Given the description of an element on the screen output the (x, y) to click on. 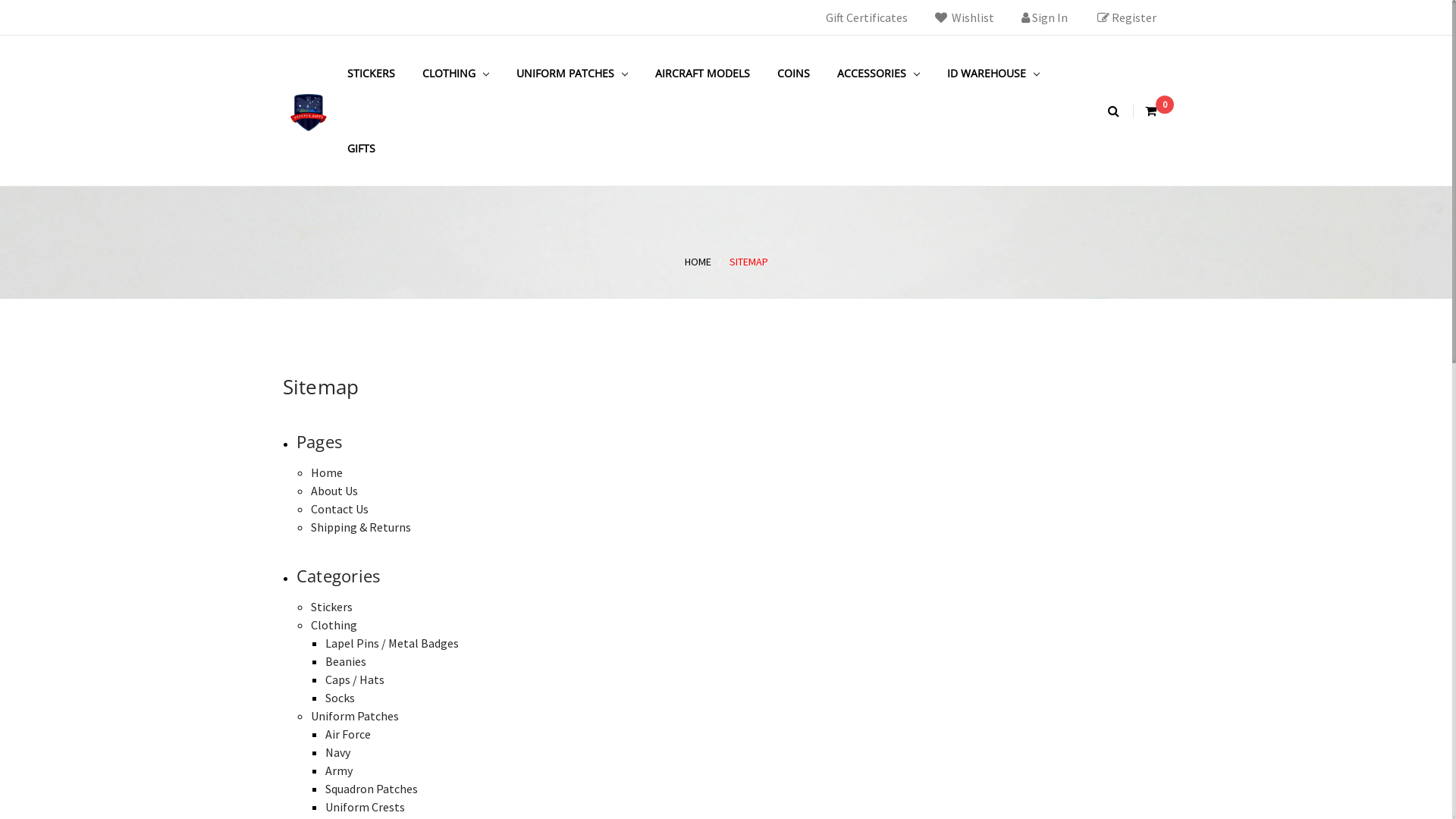
Uniform Crests Element type: text (364, 806)
Register Element type: text (1125, 17)
ID WAREHOUSE Element type: text (992, 72)
Shipping & Returns Element type: text (360, 526)
CLOTHING Element type: text (454, 72)
Stickers Element type: text (331, 606)
HOME Element type: text (697, 261)
Caps / Hats Element type: text (354, 679)
Squadron Patches Element type: text (371, 788)
GIFTS Element type: text (361, 147)
ACCESSORIES Element type: text (878, 72)
Navy Element type: text (337, 751)
STICKERS Element type: text (370, 72)
Beanies Element type: text (345, 660)
Lapel Pins / Metal Badges Element type: text (391, 642)
Wishlist Element type: text (963, 17)
Home Element type: text (326, 472)
0 Element type: text (1150, 110)
AIRCRAFT MODELS Element type: text (702, 72)
Uniform Patches Element type: text (354, 715)
SITEMAP Element type: text (748, 261)
Gift Certificates Element type: text (865, 17)
Contact Us Element type: text (339, 508)
Army Element type: text (338, 770)
UNIFORM PATCHES Element type: text (571, 72)
Sign In Element type: text (1043, 17)
COINS Element type: text (792, 72)
Clothing Element type: text (333, 624)
Socks Element type: text (339, 697)
About Us Element type: text (333, 490)
Air Force Element type: text (347, 733)
Defence Gifts Element type: hover (307, 110)
